Given the description of an element on the screen output the (x, y) to click on. 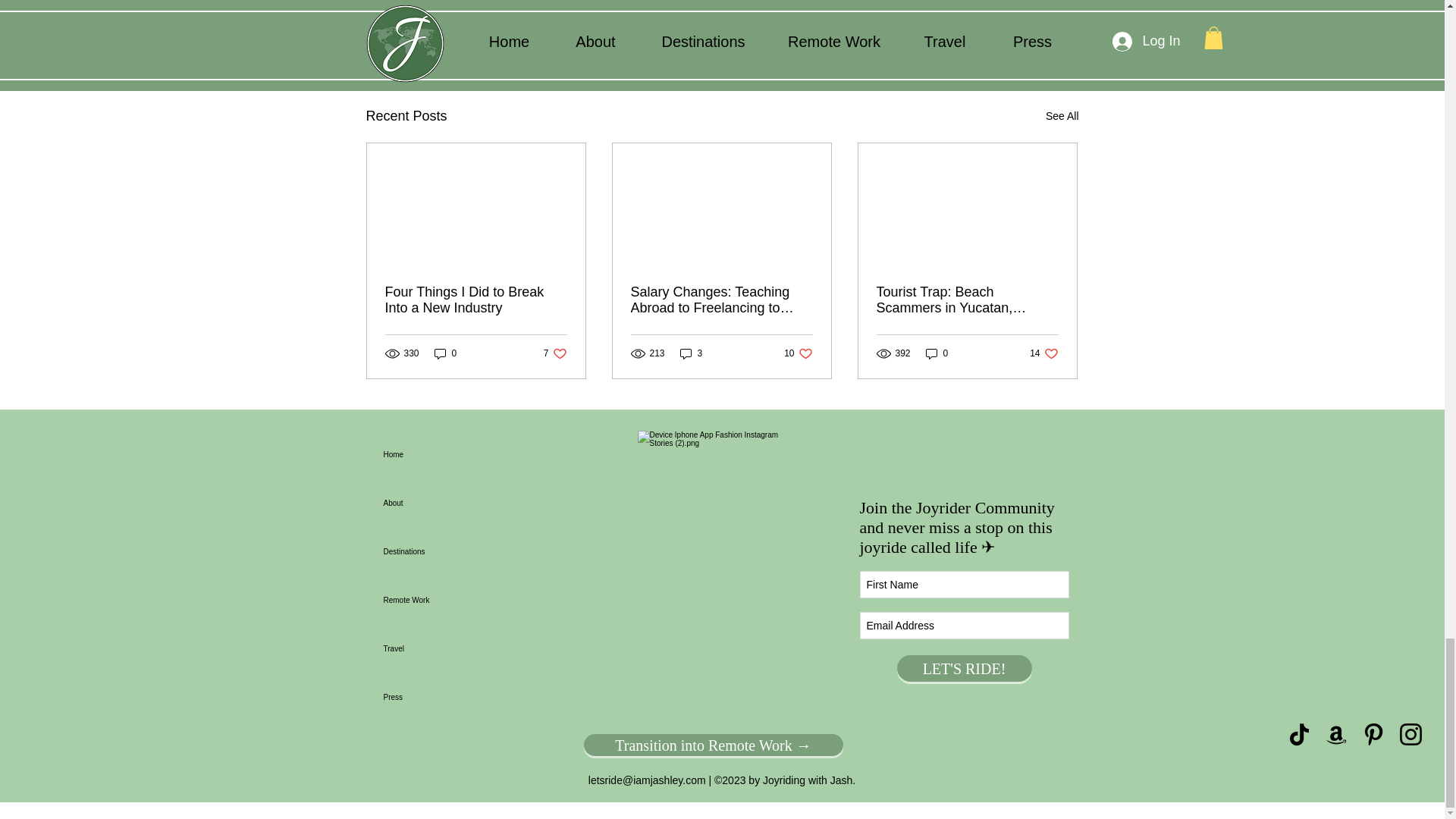
See All (1061, 116)
Four Things I Did to Break Into a New Industry (476, 300)
0 (990, 33)
